Given the description of an element on the screen output the (x, y) to click on. 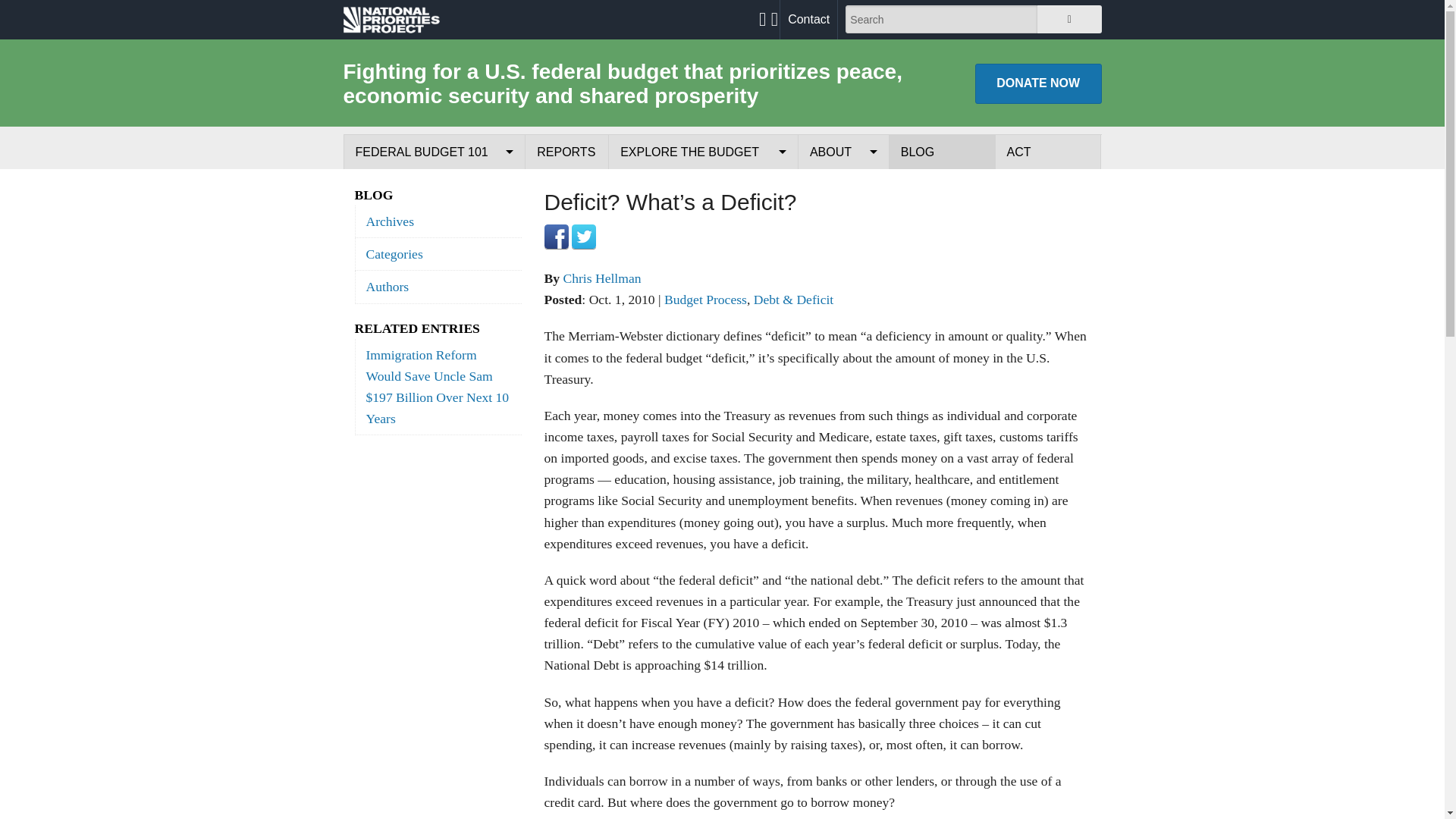
Team (843, 256)
BLOG (941, 151)
Cost of National Security (703, 256)
REPORTS (566, 151)
National Priorities Project (390, 19)
FEDERAL BUDGET 101 (434, 151)
Where the Money Comes From (433, 221)
Federal Budget Process (433, 186)
DONATE NOW (1038, 83)
ACT (1047, 151)
